Given the description of an element on the screen output the (x, y) to click on. 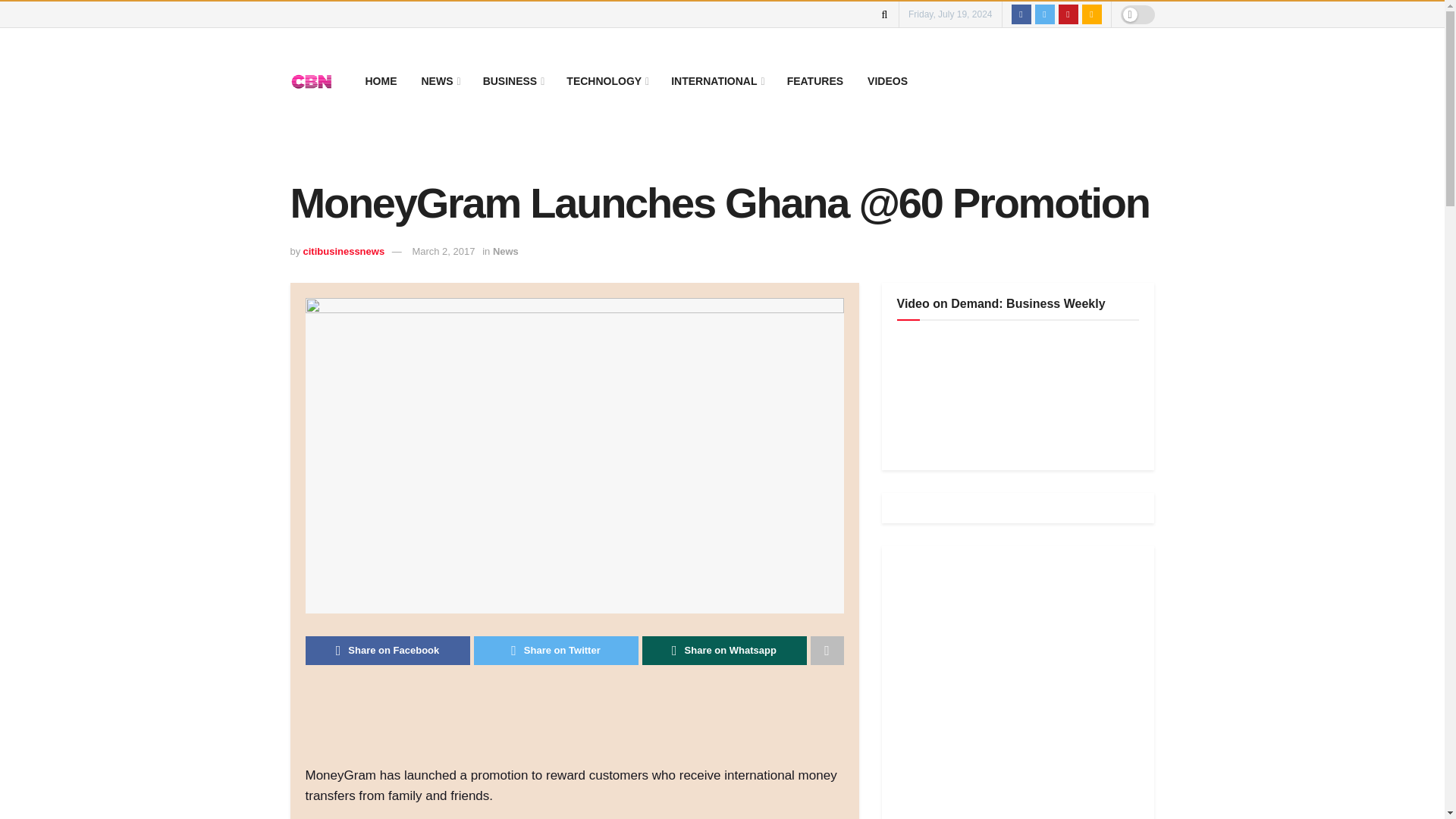
NEWS (439, 80)
Business Weekly (1010, 392)
Advertisement (580, 725)
HOME (381, 80)
